Given the description of an element on the screen output the (x, y) to click on. 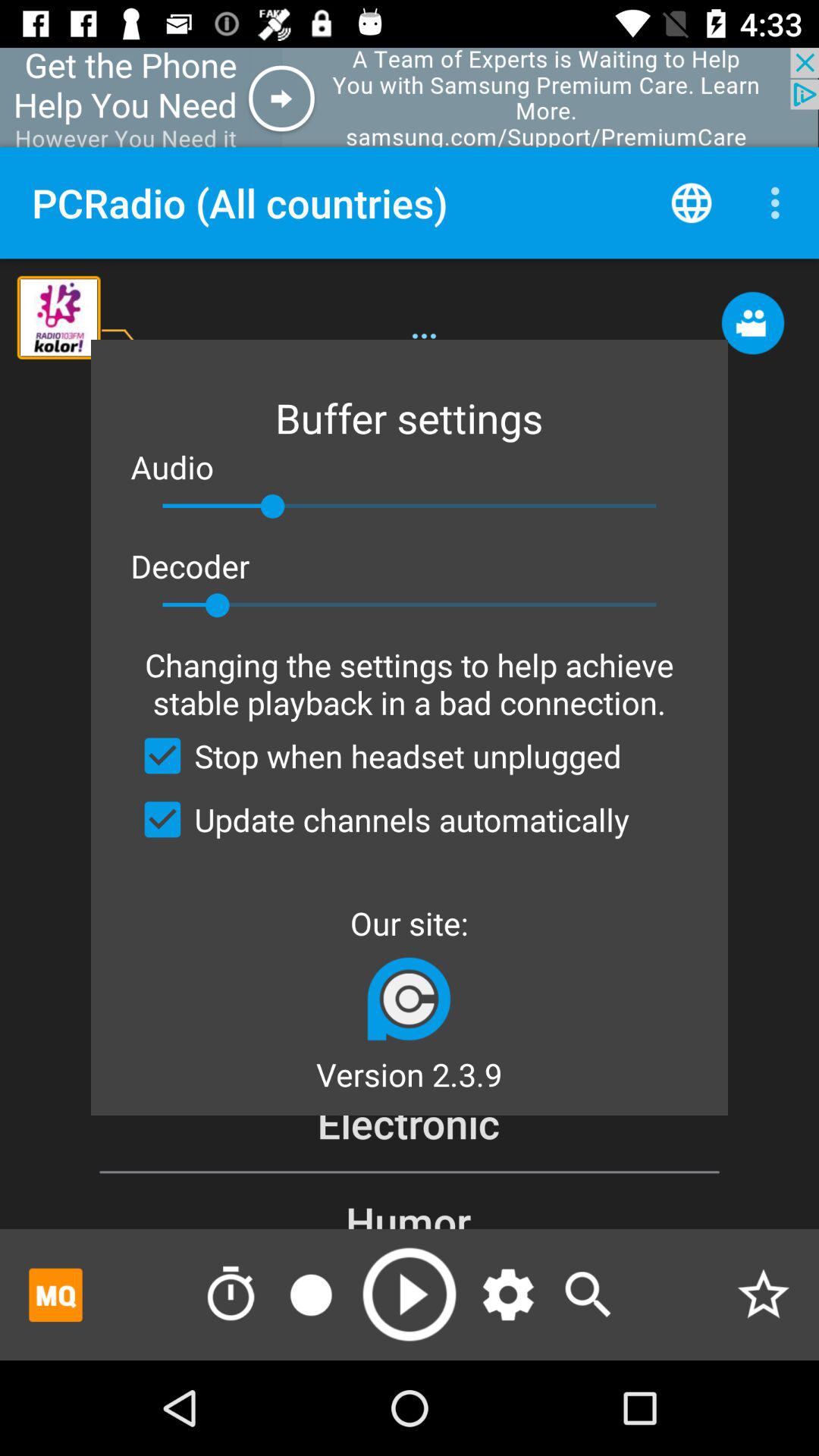
press update channels automatically item (379, 819)
